Given the description of an element on the screen output the (x, y) to click on. 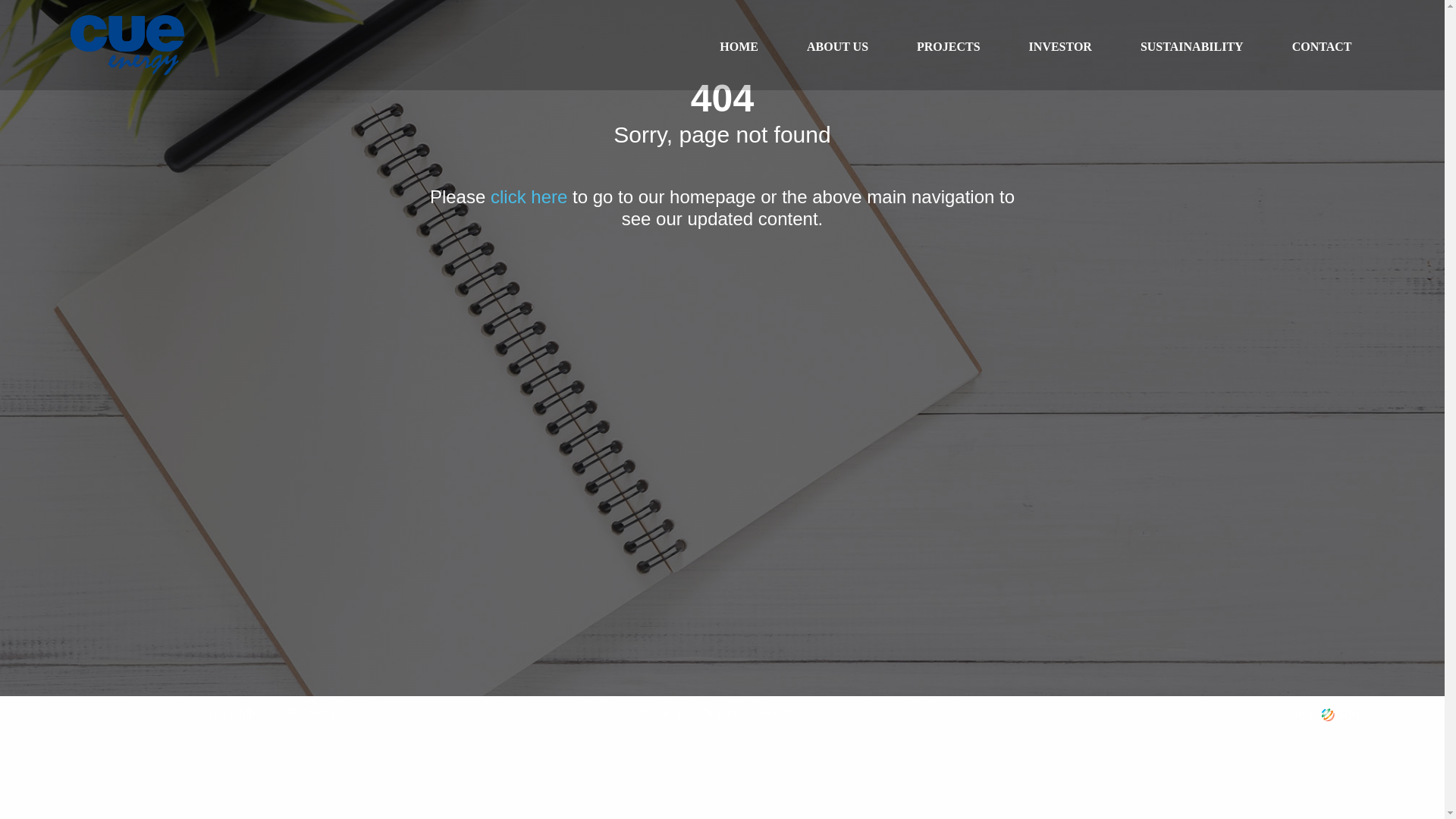
click here Element type: text (528, 196)
Privacy Element type: text (719, 712)
HOME Element type: text (738, 46)
INVESTOR Element type: text (1060, 46)
SUSTAINABILITY Element type: text (1191, 46)
Site by Element type: text (1322, 712)
Search Element type: text (773, 712)
ABOUT US Element type: text (837, 46)
PROJECTS Element type: text (948, 46)
Site Map Element type: text (661, 712)
CONTACT Element type: text (1321, 46)
